Given the description of an element on the screen output the (x, y) to click on. 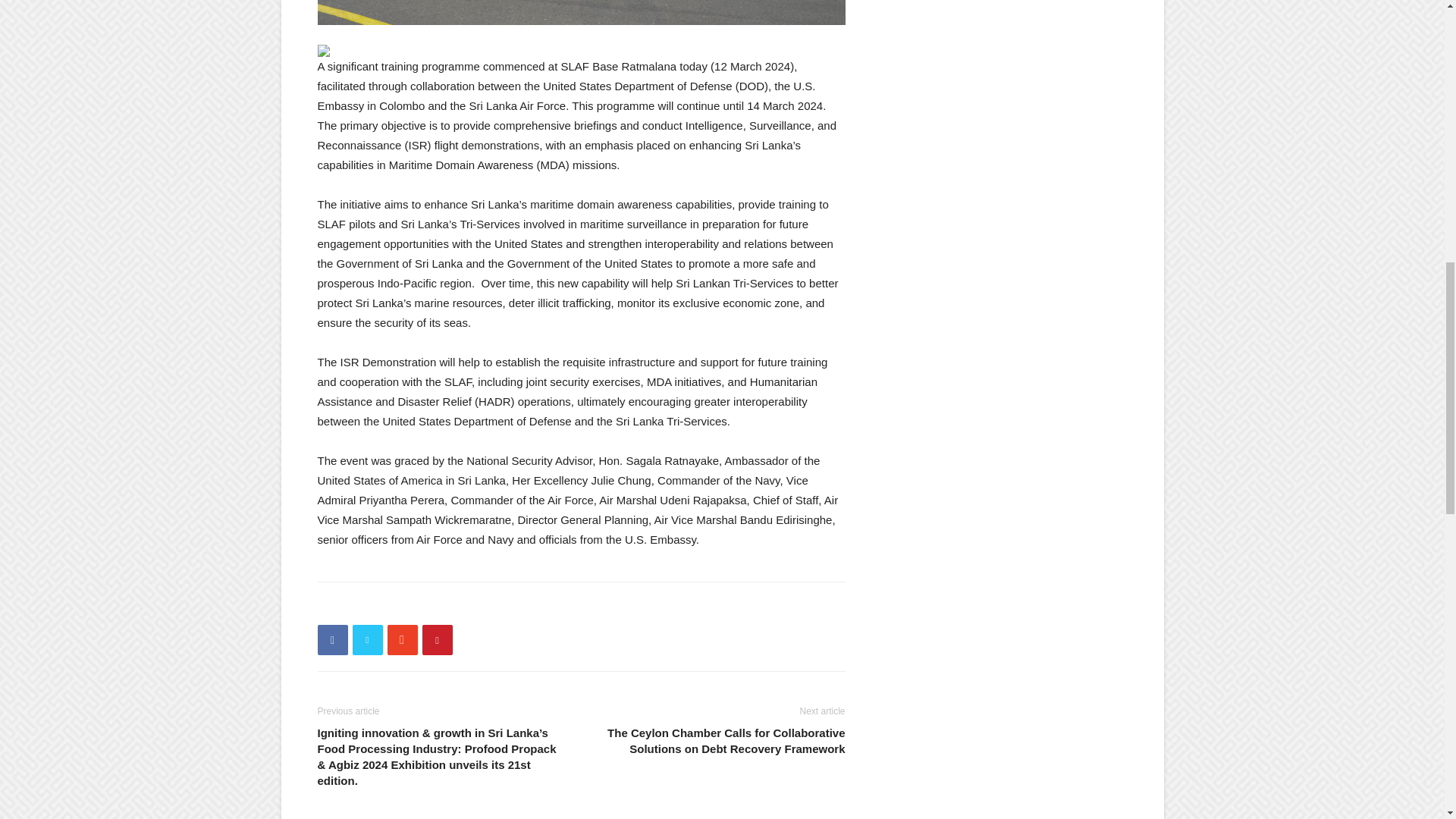
25 (580, 12)
